Given the description of an element on the screen output the (x, y) to click on. 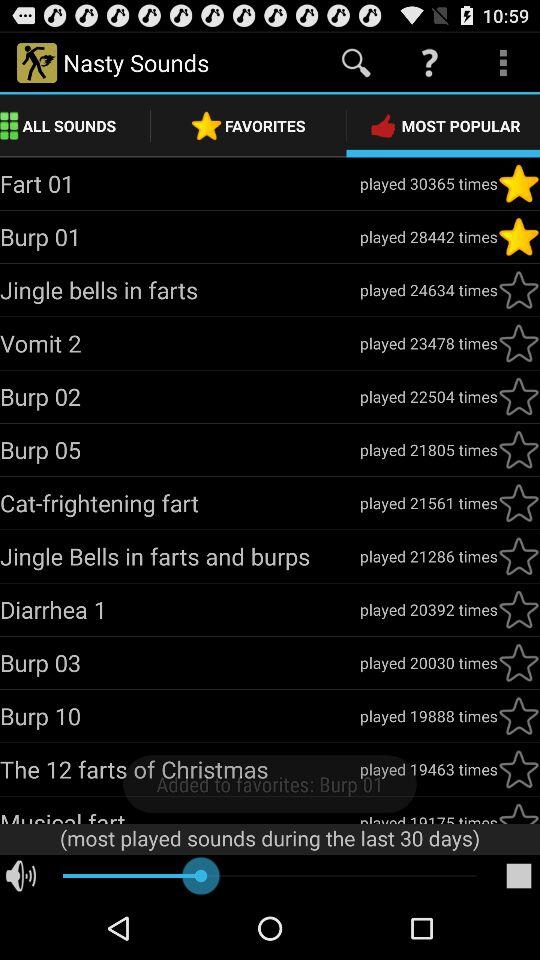
favorite (519, 450)
